Given the description of an element on the screen output the (x, y) to click on. 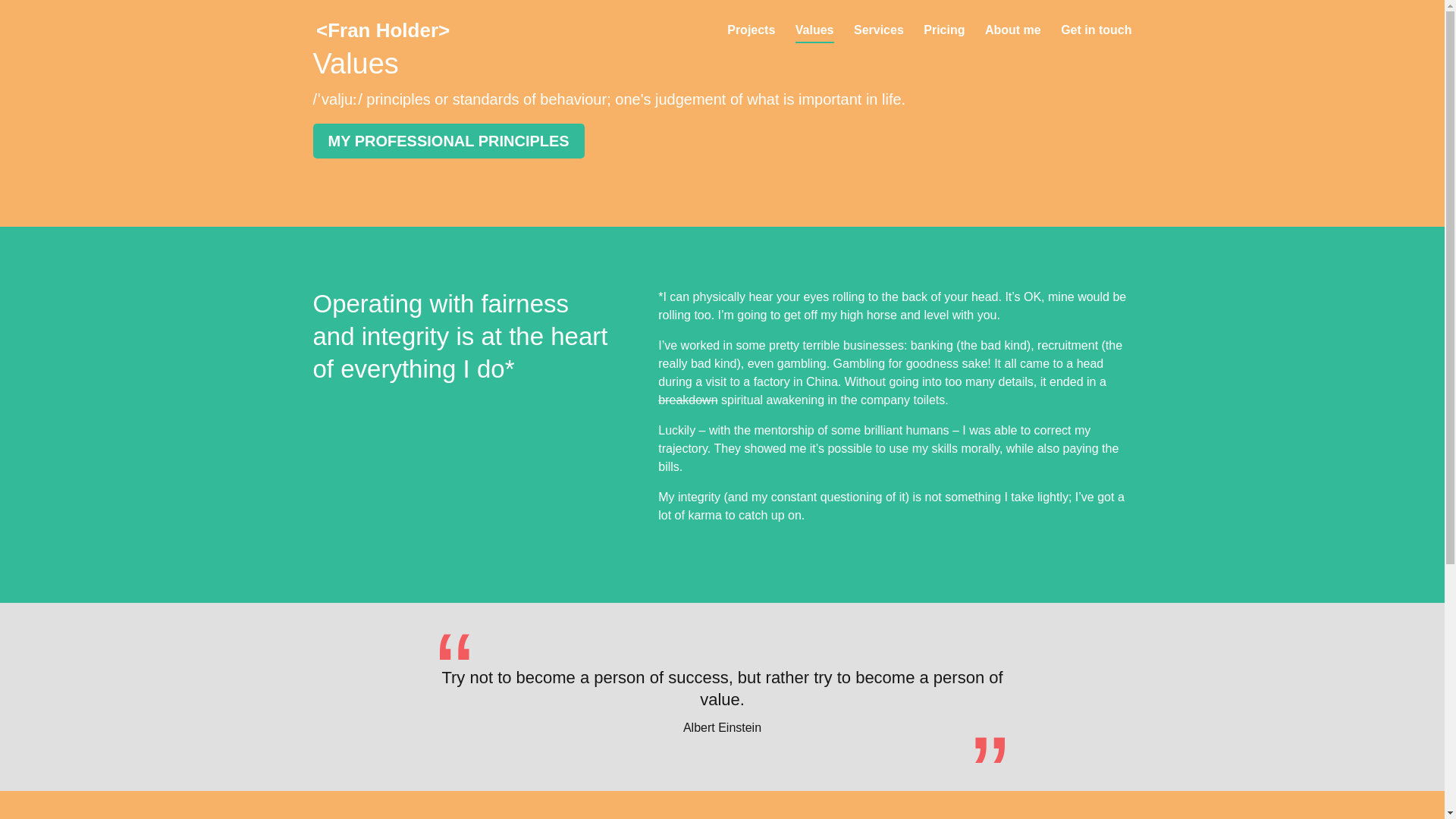
MY PROFESSIONAL PRINCIPLES (448, 140)
Values (814, 42)
Fran Holder (382, 29)
Pricing (943, 42)
Projects (750, 42)
About me (1013, 42)
Get in touch (1096, 42)
Services (878, 42)
